Given the description of an element on the screen output the (x, y) to click on. 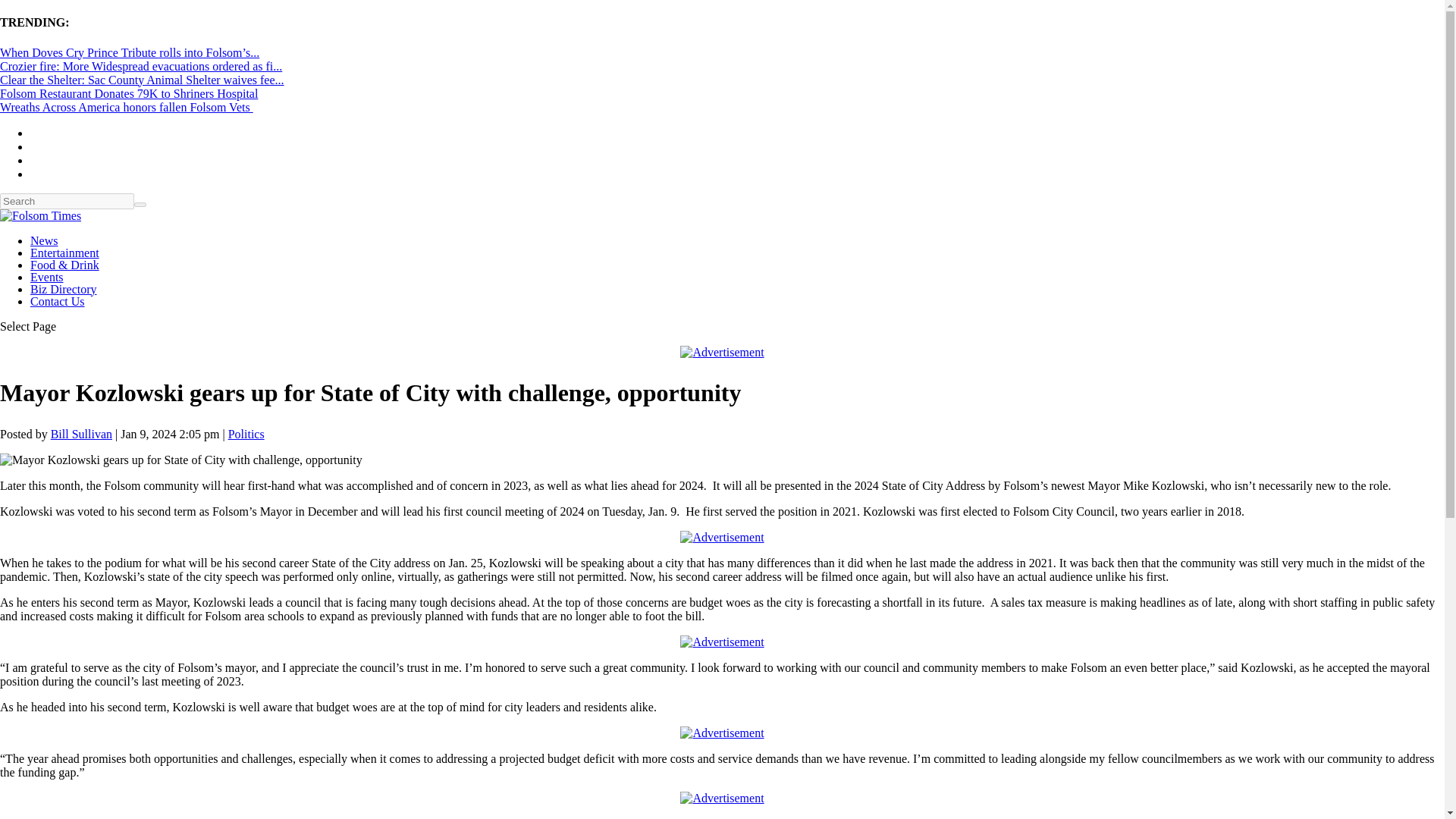
Contact Us (57, 300)
Biz Directory (63, 288)
Bill Sullivan (81, 433)
Clear the Shelter: Sac County Animal Shelter waives fee... (141, 79)
Posts by Bill Sullivan (81, 433)
Folsom Restaurant Donates 79K to Shriners Hospital (128, 92)
Politics (246, 433)
Wreaths Across America honors fallen Folsom Vets  (126, 106)
Entertainment (64, 252)
Search for: (66, 201)
